Given the description of an element on the screen output the (x, y) to click on. 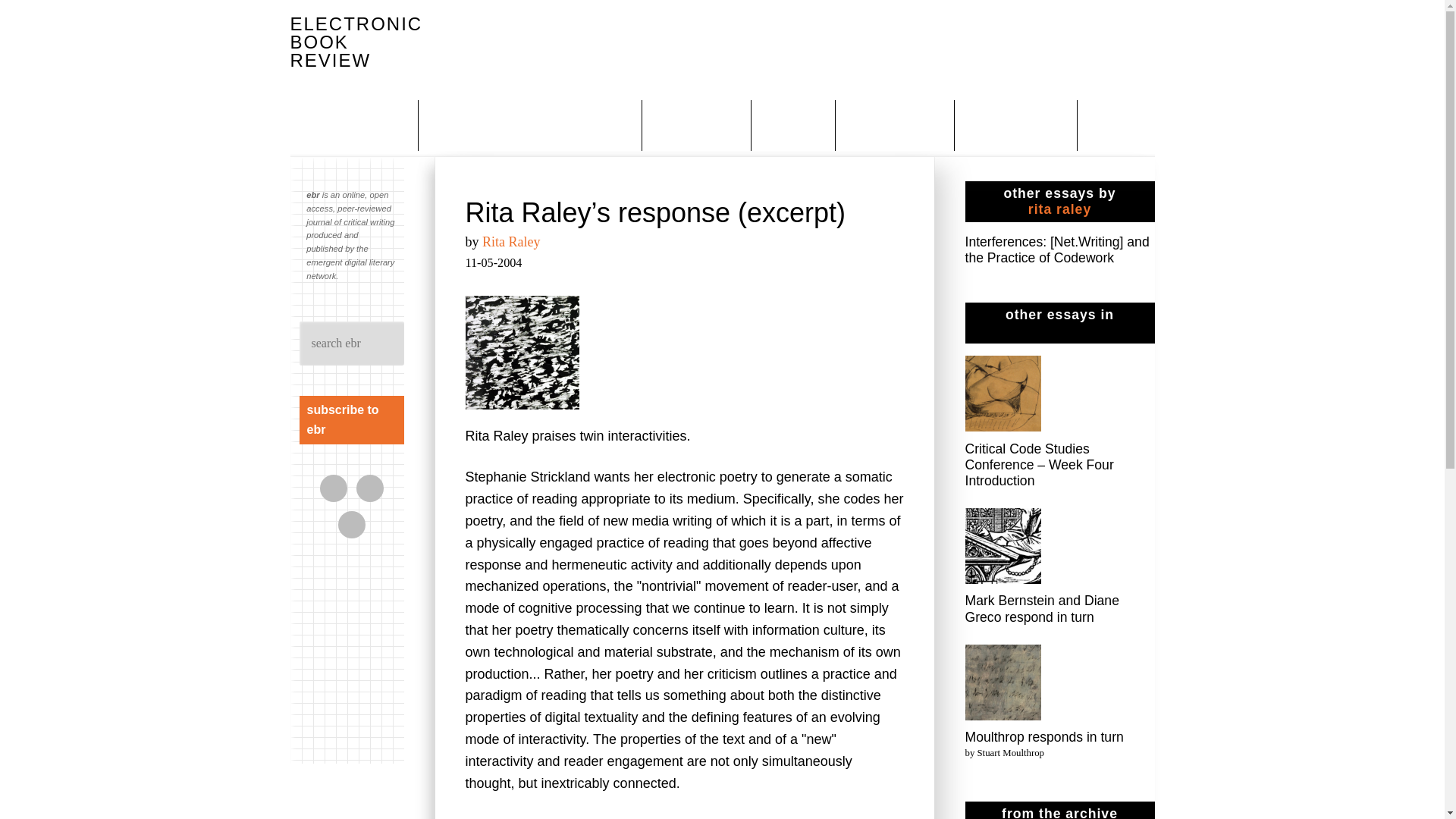
SUBSCRIBE (698, 124)
ELECTRONIC BOOK REVIEW (355, 41)
POLICIES AND SUBMISSIONS (532, 124)
Stephanie Strickland responds (809, 817)
Moulthrop responds in turn (1042, 736)
Rita Raley (510, 241)
subscribe to ebr (350, 419)
NEWSLETTER (1017, 124)
